Given the description of an element on the screen output the (x, y) to click on. 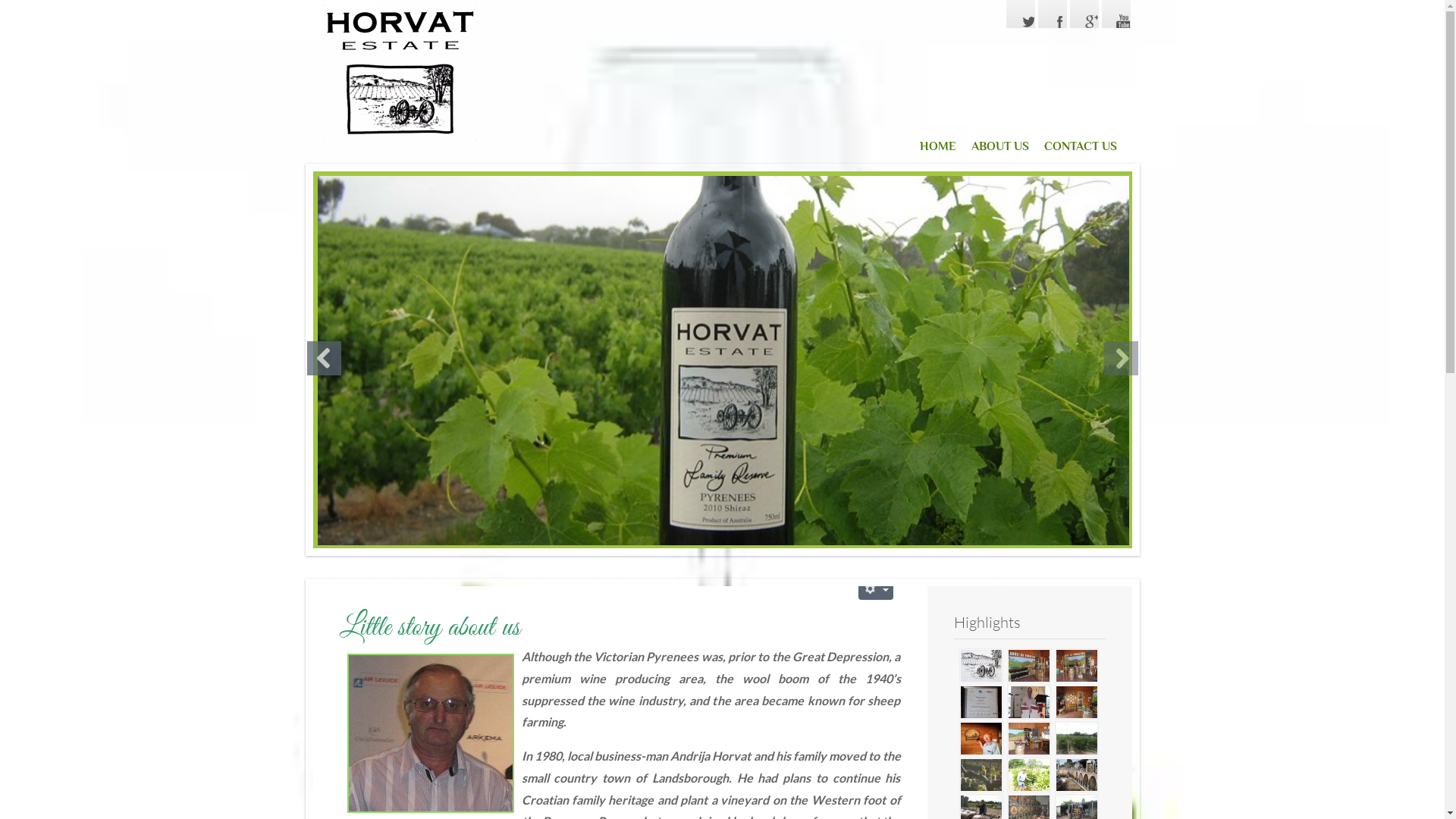
Next Element type: text (1121, 358)
Previous Element type: hover (323, 358)
ABOUT US Element type: text (999, 147)
CONTACT US Element type: text (1079, 147)
GooglePlus Element type: hover (1084, 14)
Facebook Element type: hover (1052, 14)
Previous Element type: text (323, 358)
Youtube Element type: hover (1115, 14)
Twitter Element type: hover (1020, 14)
HOME Element type: text (927, 147)
